Given the description of an element on the screen output the (x, y) to click on. 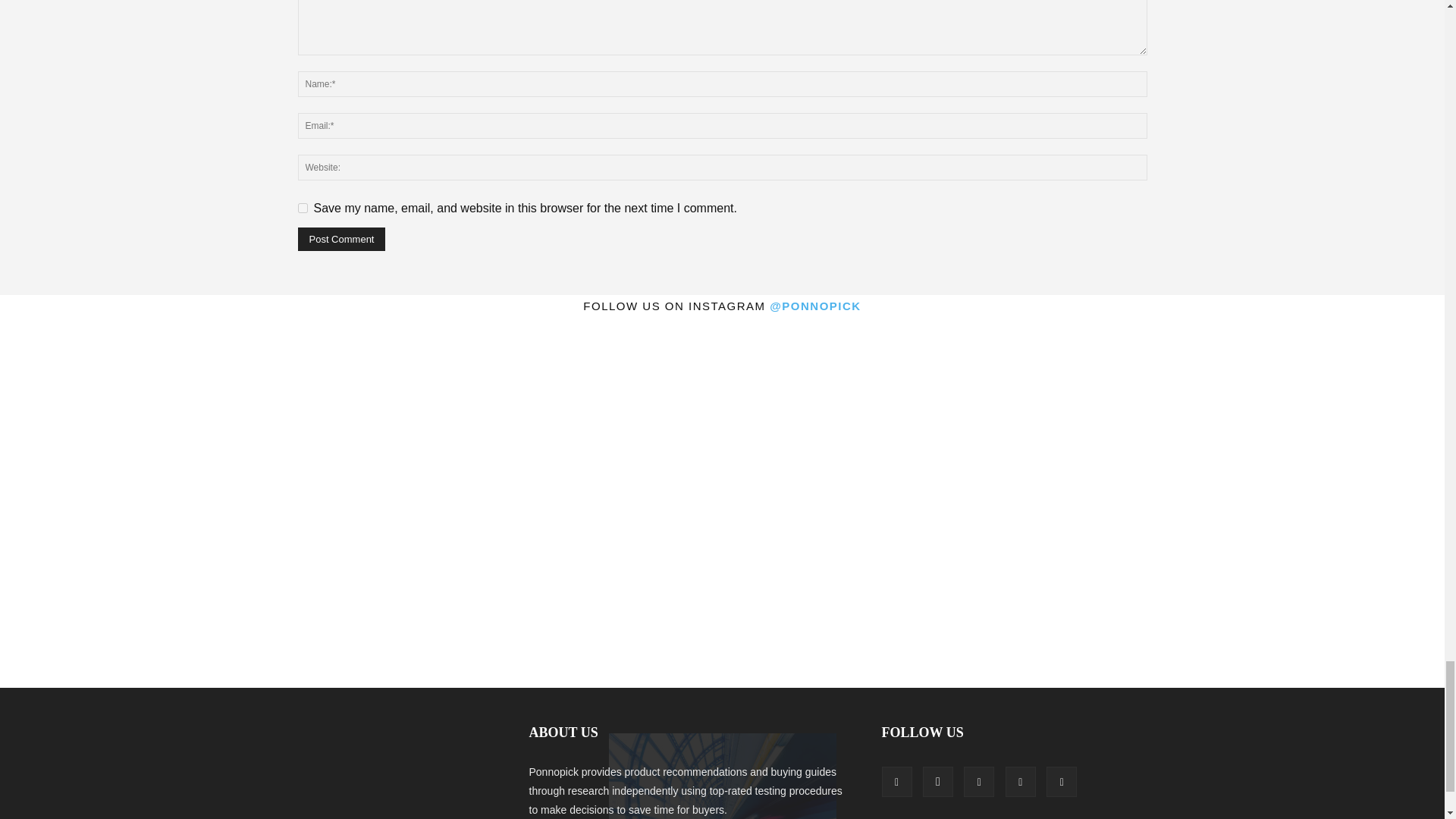
yes (302, 207)
Post Comment (341, 238)
